Given the description of an element on the screen output the (x, y) to click on. 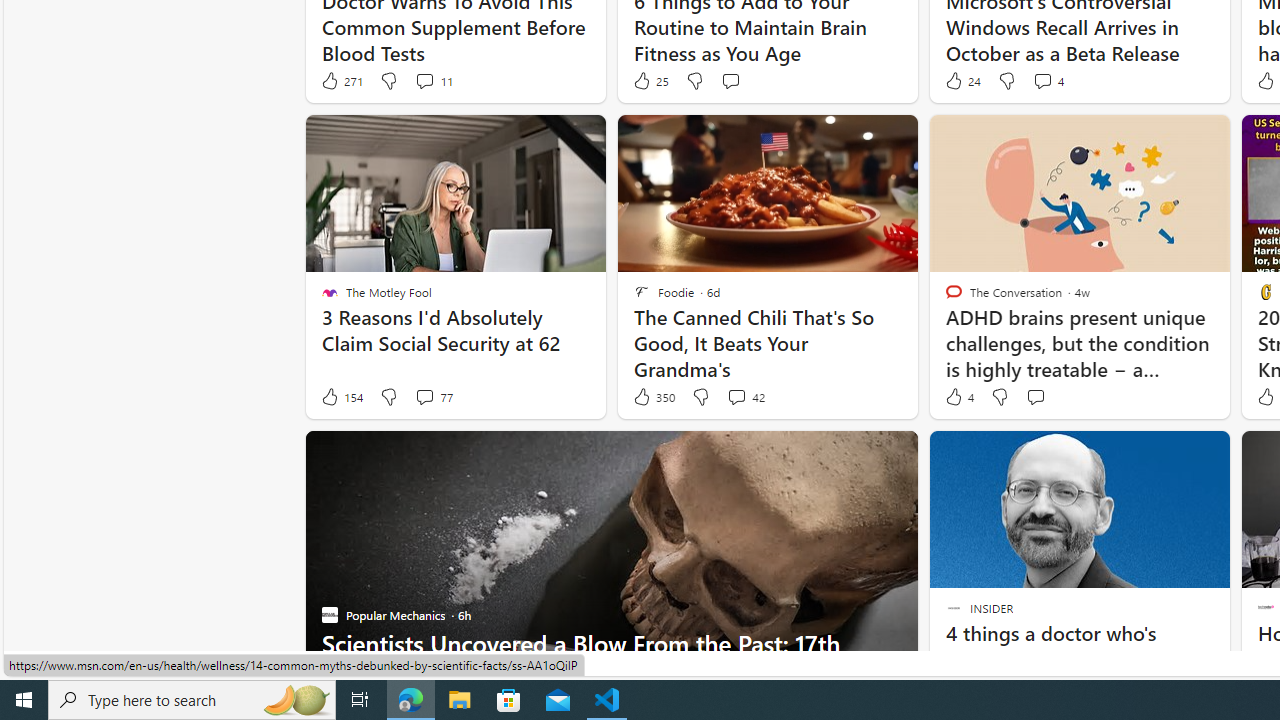
24 Like (961, 80)
View comments 4 Comment (1042, 80)
